Given the description of an element on the screen output the (x, y) to click on. 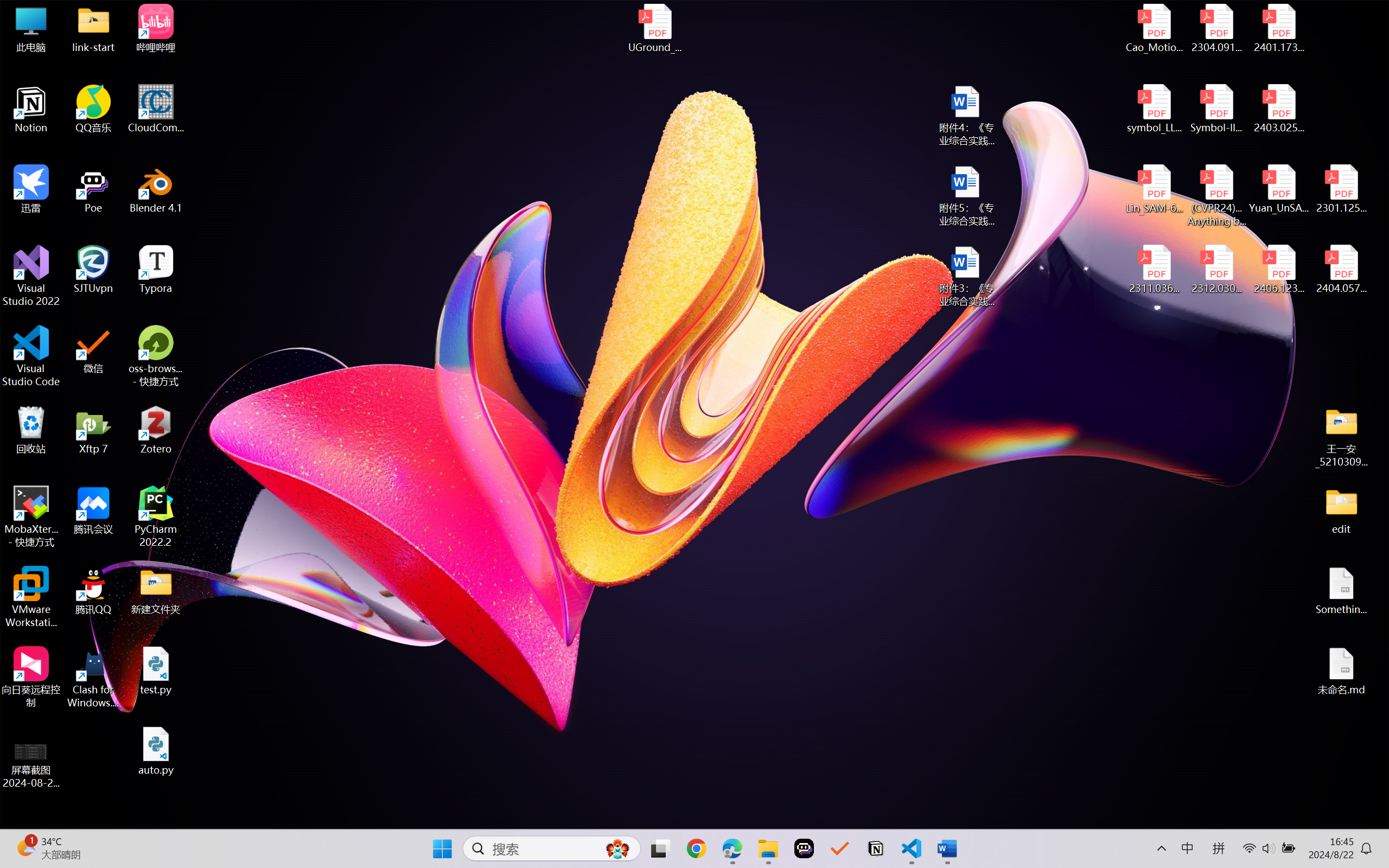
Google Chrome (696, 848)
symbol_LLM.pdf (1154, 109)
PyCharm 2022.2 (156, 516)
